Given the description of an element on the screen output the (x, y) to click on. 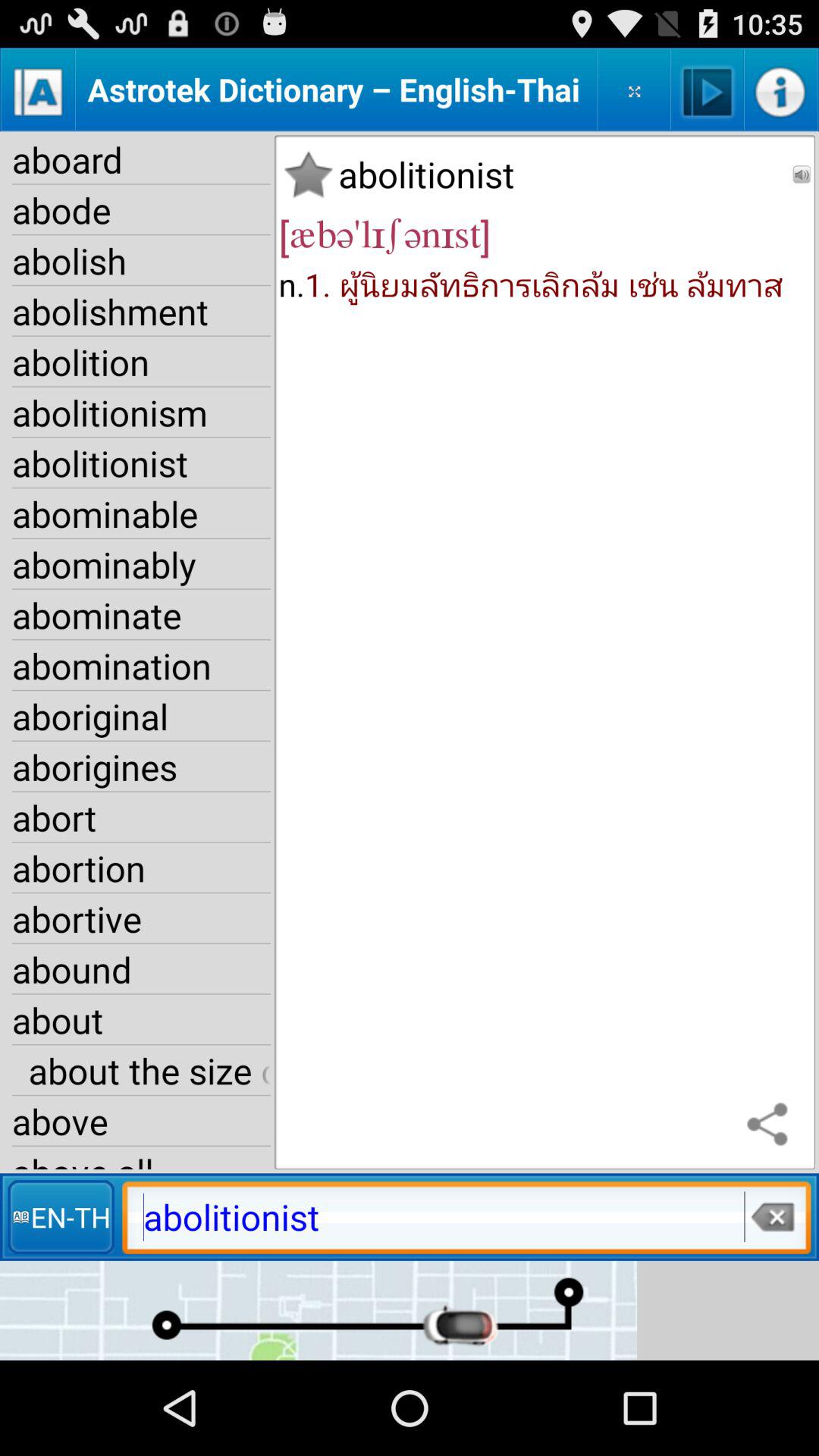
read word (801, 174)
